Given the description of an element on the screen output the (x, y) to click on. 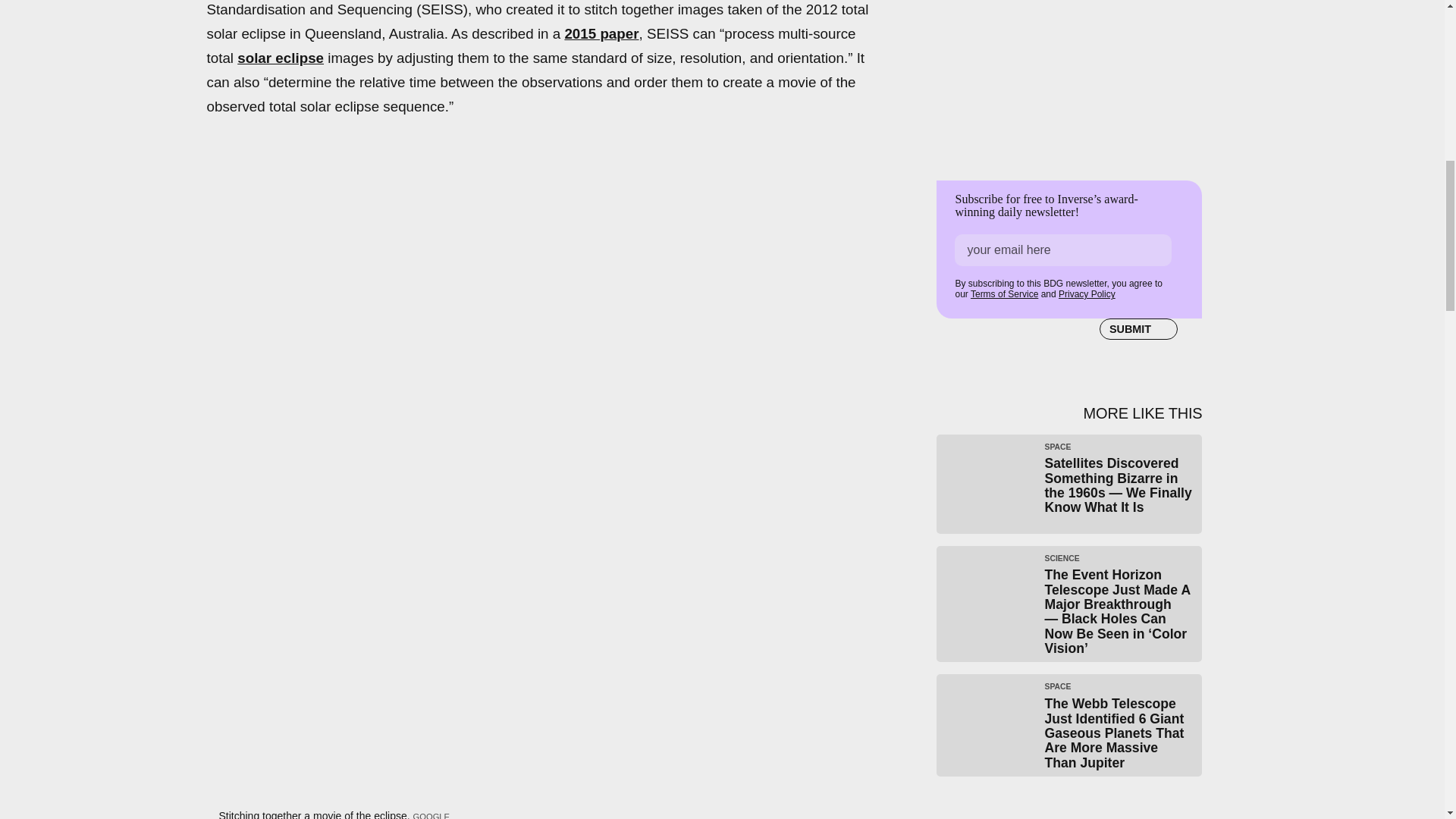
solar eclipse (280, 57)
Privacy Policy (1086, 294)
SUBMIT (1138, 328)
Terms of Service (1004, 294)
2015 paper (601, 33)
GOOGLE (431, 815)
